Given the description of an element on the screen output the (x, y) to click on. 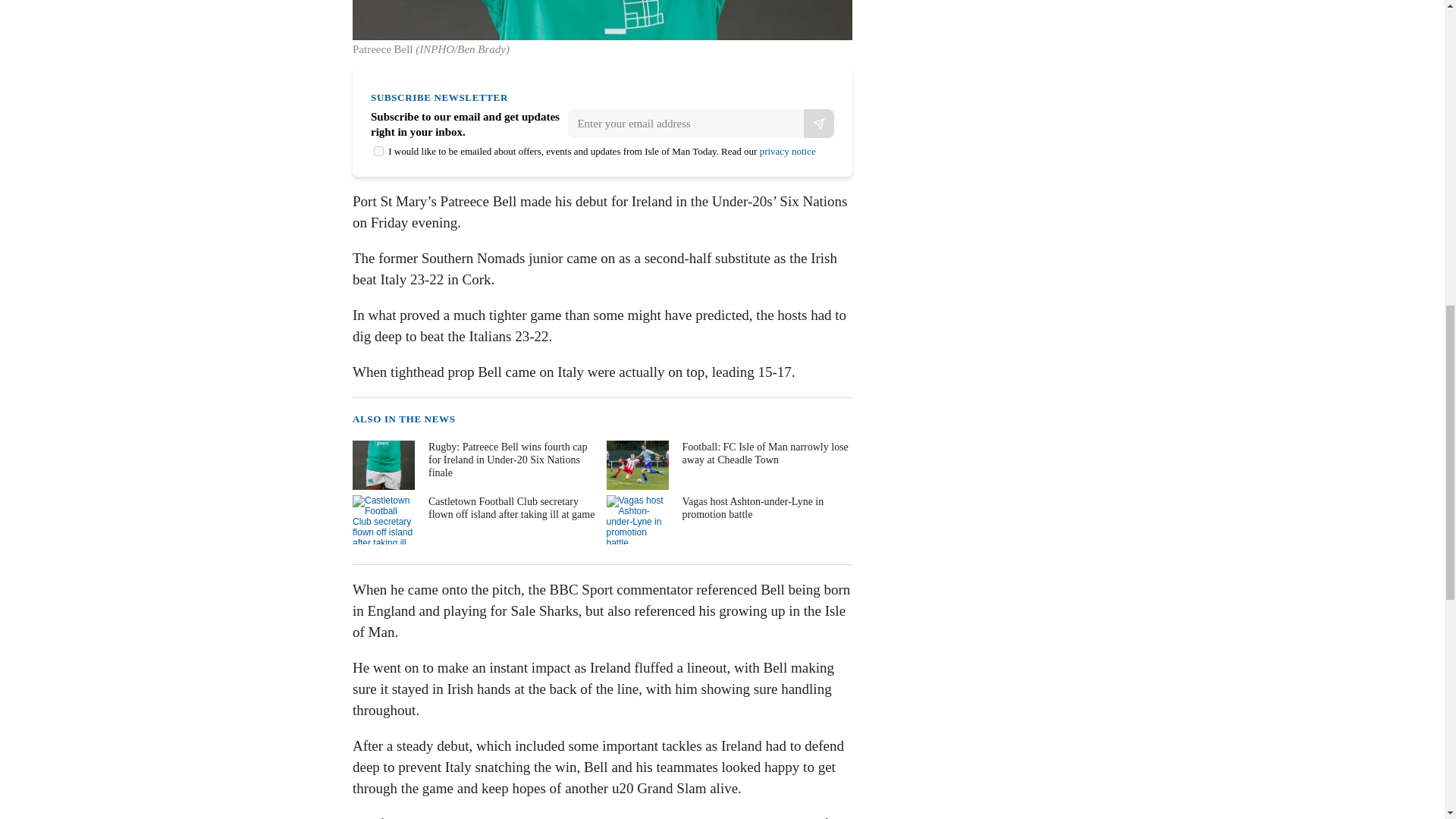
privacy notice (787, 151)
Football: FC Isle of Man narrowly lose away at Cheadle Town (727, 464)
Vagas host Ashton-under-Lyne in promotion battle (727, 519)
on (379, 151)
